Given the description of an element on the screen output the (x, y) to click on. 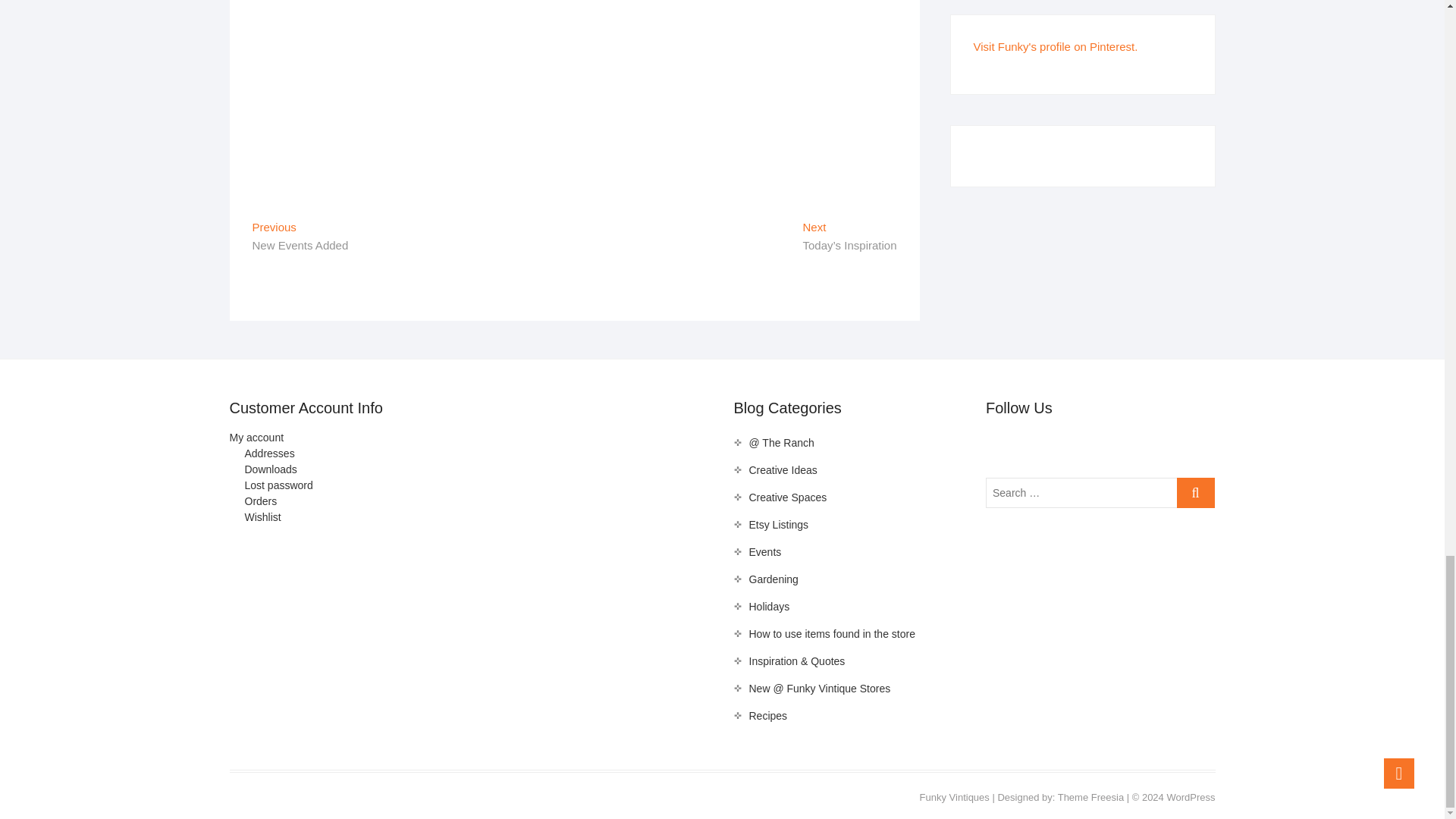
WordPress (1190, 797)
Comment Form (573, 95)
Funky Vintiques (955, 797)
Theme Freesia (1091, 797)
